Given the description of an element on the screen output the (x, y) to click on. 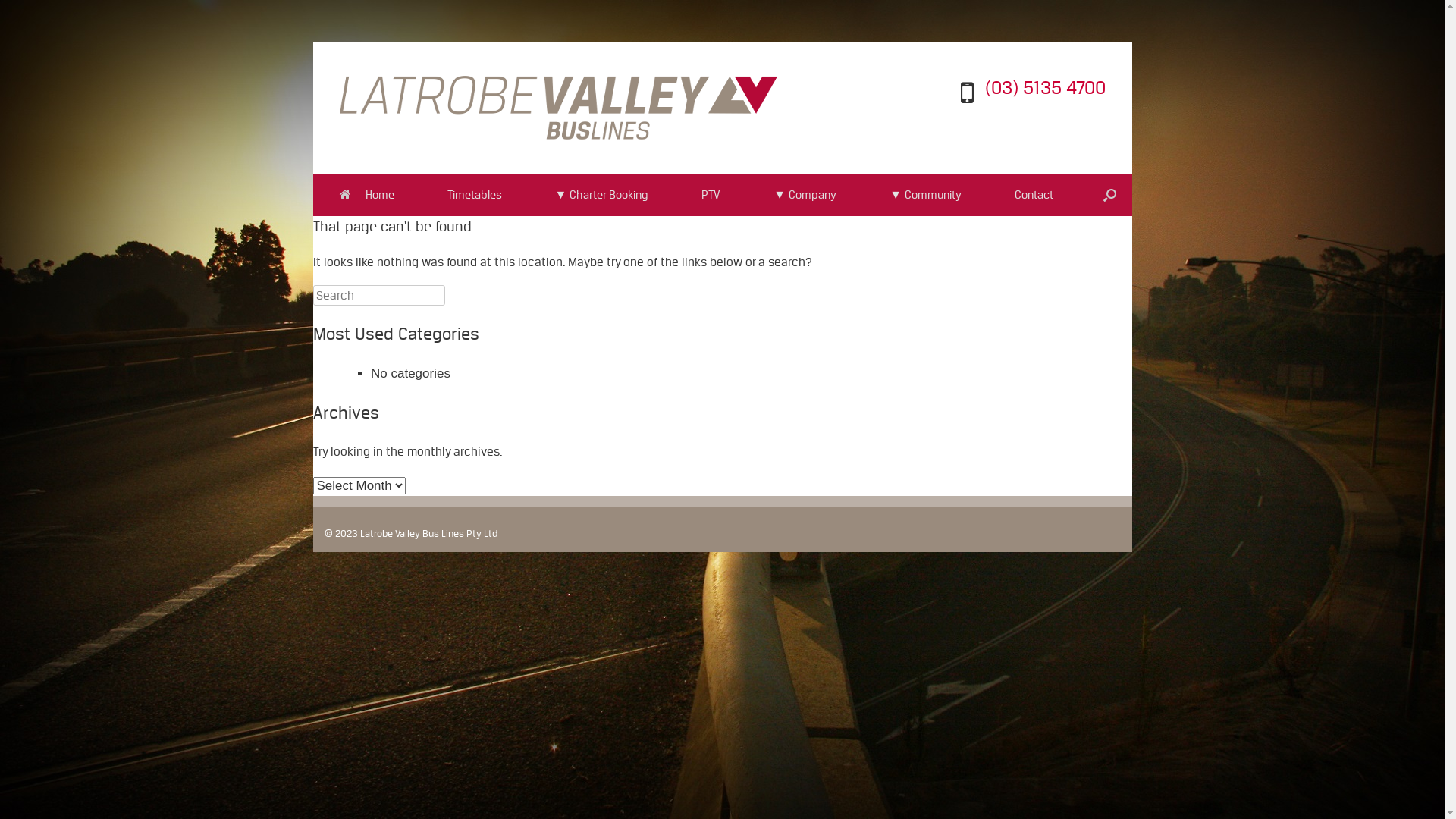
Latrobe Valley Bus Lines Element type: hover (558, 107)
Home Element type: text (366, 194)
Timetables Element type: text (473, 194)
(03) 5135 4700 Element type: text (1044, 87)
PTV Element type: text (710, 194)
Contact Element type: text (1033, 194)
